Given the description of an element on the screen output the (x, y) to click on. 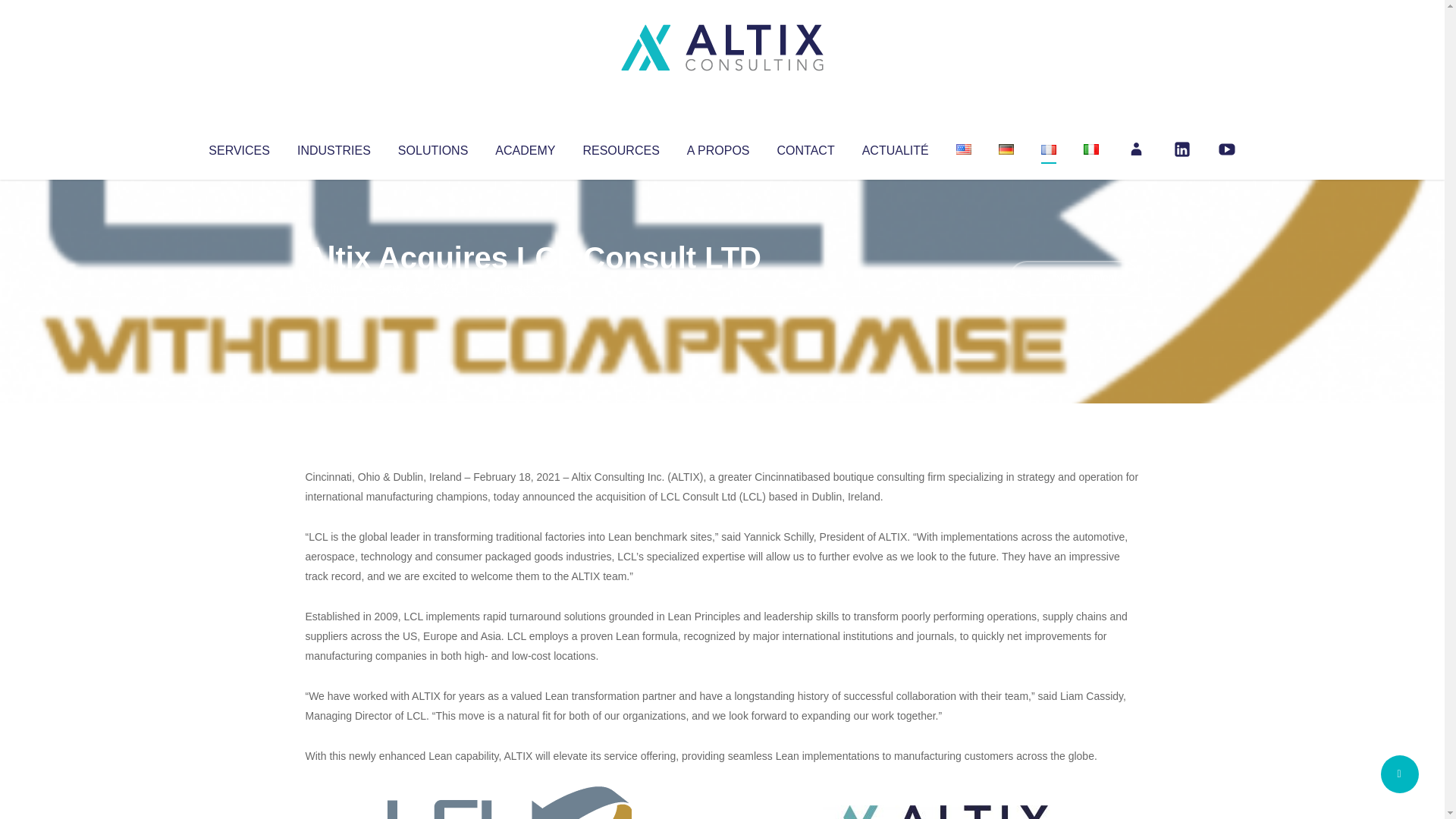
SERVICES (238, 146)
No Comments (1073, 278)
RESOURCES (620, 146)
Uncategorized (530, 287)
Articles par Altix (333, 287)
Altix (333, 287)
A PROPOS (718, 146)
SOLUTIONS (432, 146)
INDUSTRIES (334, 146)
ACADEMY (524, 146)
